Given the description of an element on the screen output the (x, y) to click on. 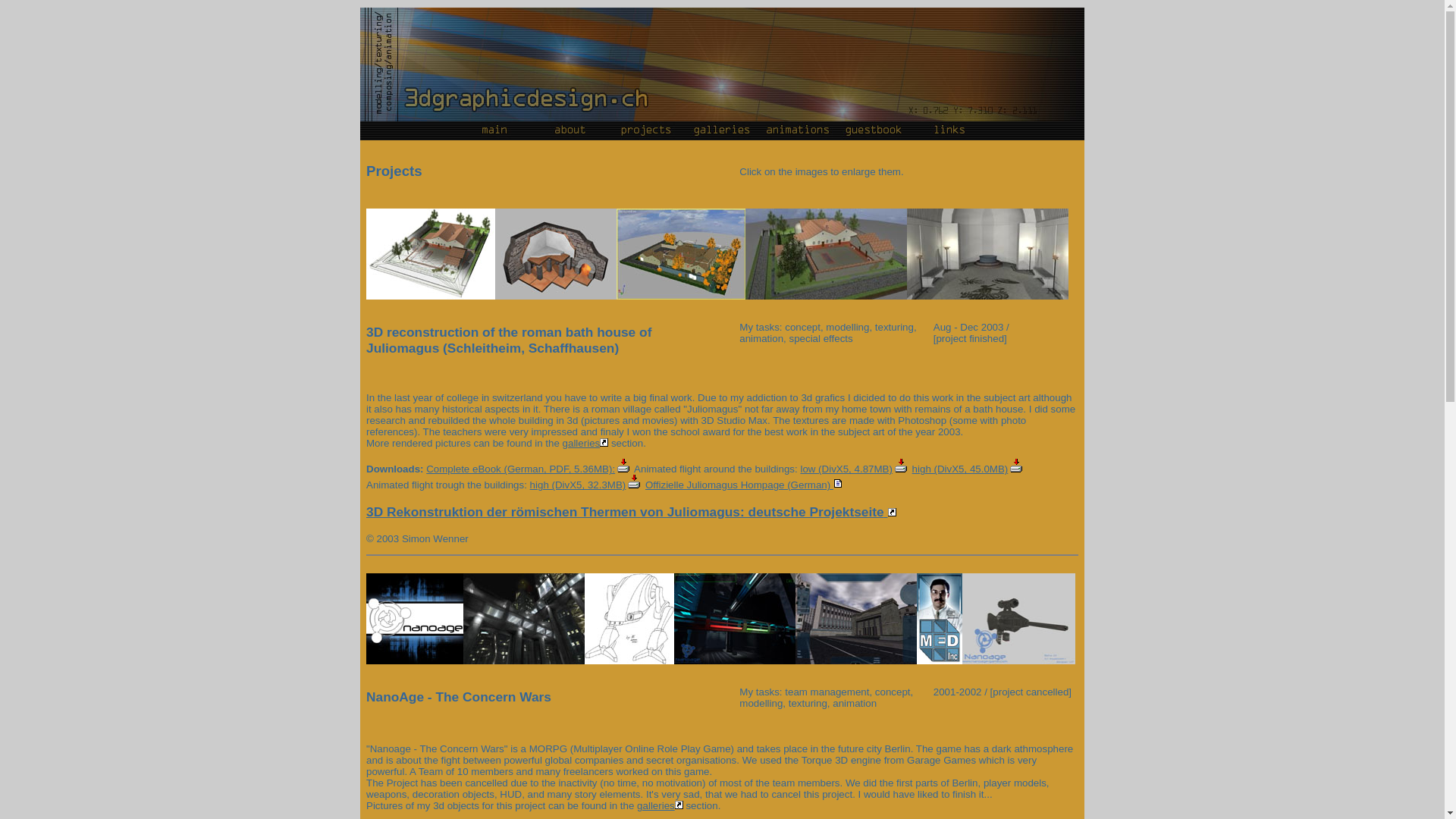
galleries Element type: text (660, 805)
Offizielle Juliomagus Hompage (German) Element type: text (744, 484)
low (DivX5, 4.87MB) Element type: text (854, 468)
galleries Element type: text (585, 442)
high (DivX5, 32.3MB) Element type: text (586, 484)
high (DivX5, 45.0MB) Element type: text (968, 468)
Complete eBook (German, PDF, 5.36MB): Element type: text (528, 468)
